Given the description of an element on the screen output the (x, y) to click on. 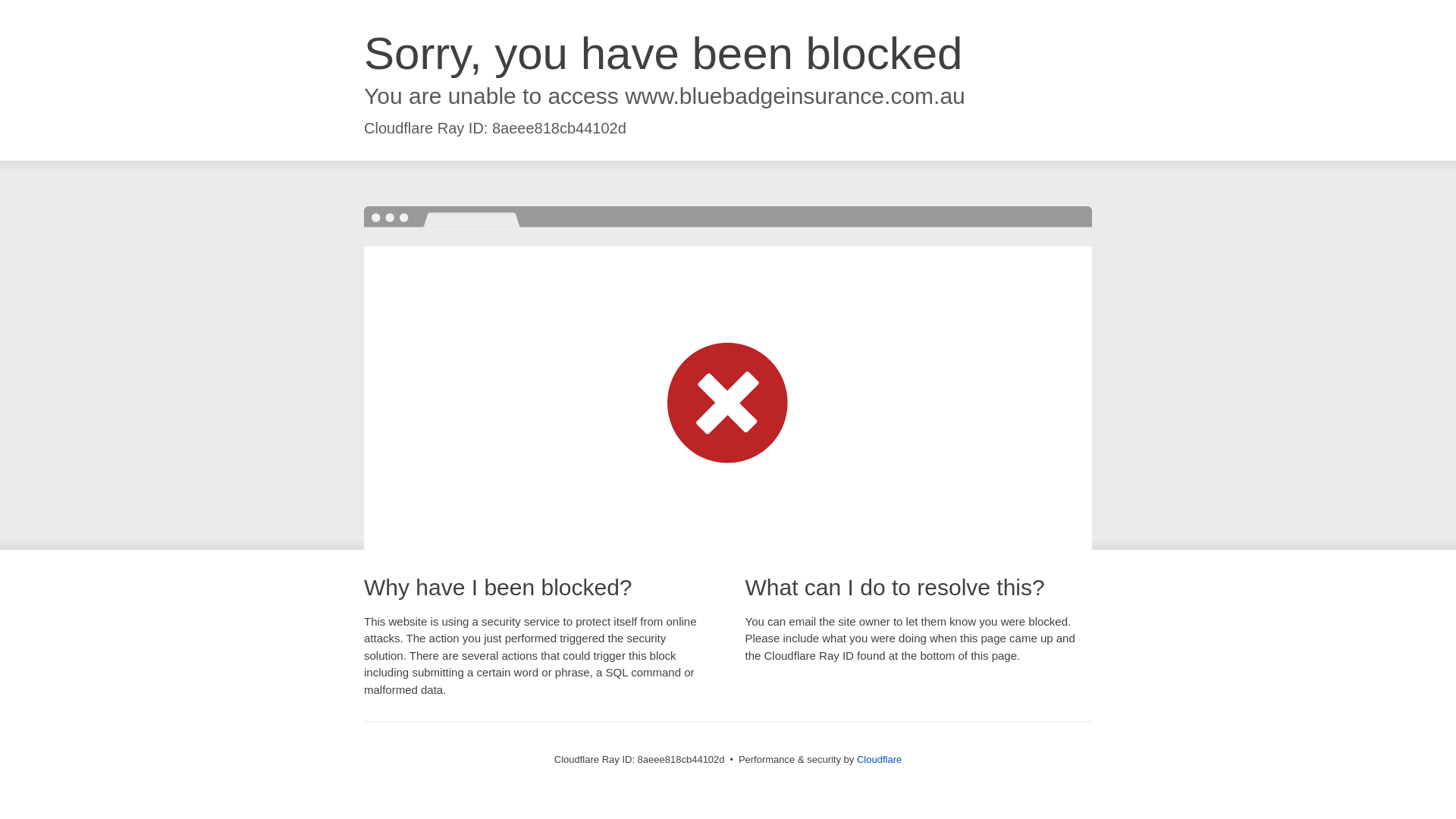
Cloudflare (879, 758)
